Given the description of an element on the screen output the (x, y) to click on. 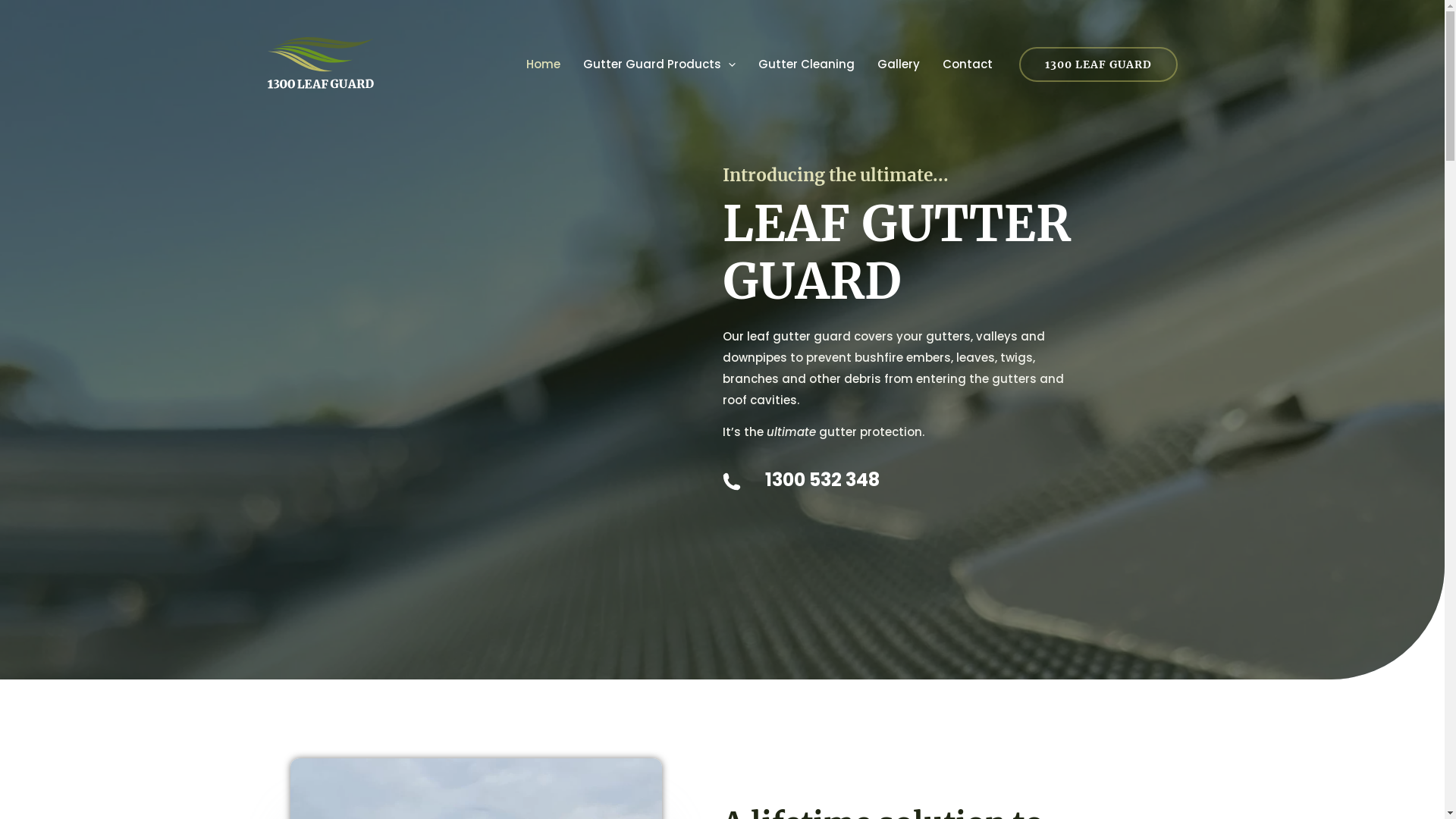
Gutter Cleaning Element type: text (805, 64)
1300 532 348 Element type: text (937, 480)
1300 LEAF GUARD Element type: text (1098, 64)
Gallery Element type: text (898, 64)
Gutter Guard Products Element type: text (658, 64)
Home Element type: text (542, 64)
Contact Element type: text (967, 64)
